Given the description of an element on the screen output the (x, y) to click on. 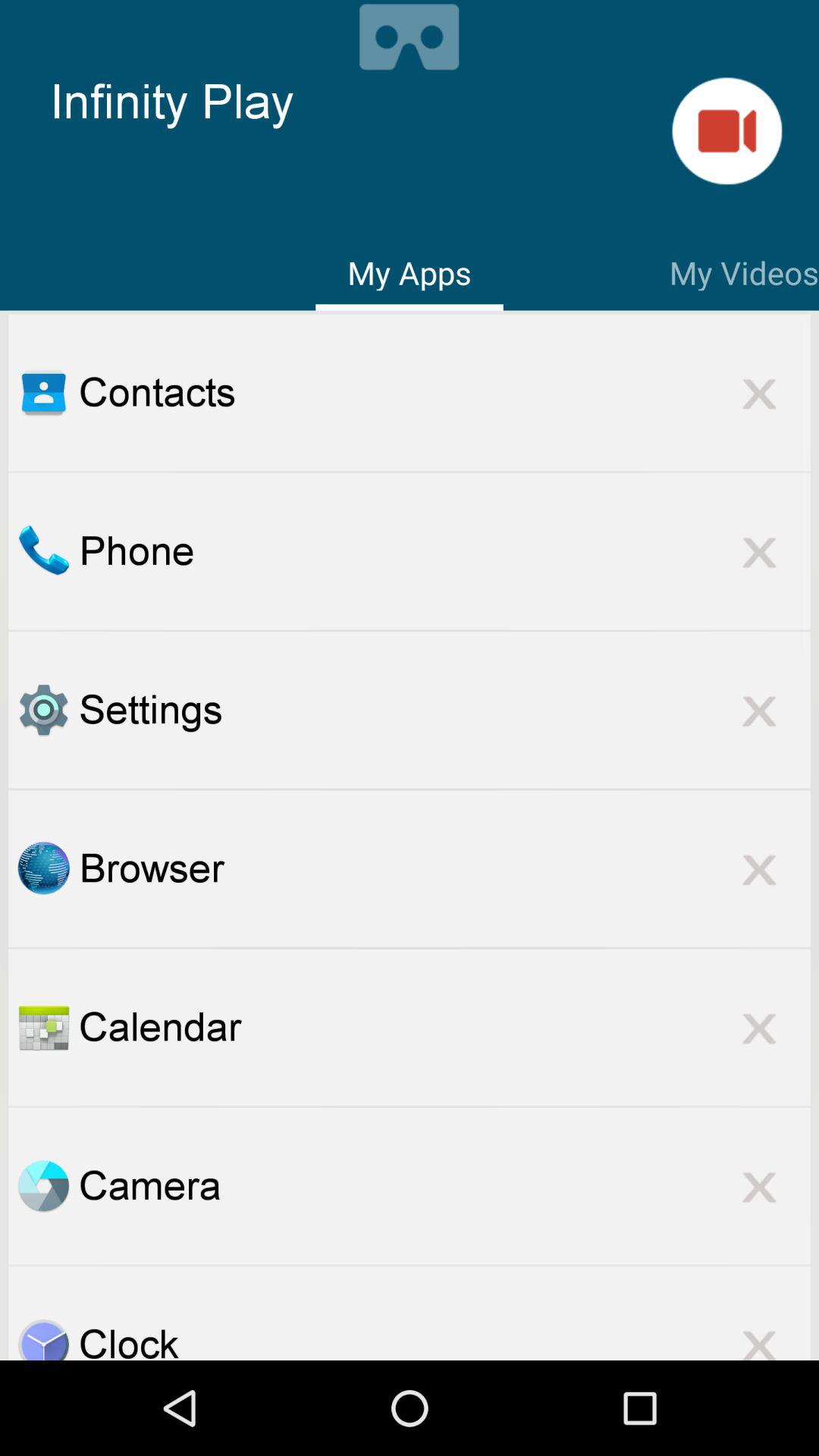
delete camera app (759, 1186)
